Given the description of an element on the screen output the (x, y) to click on. 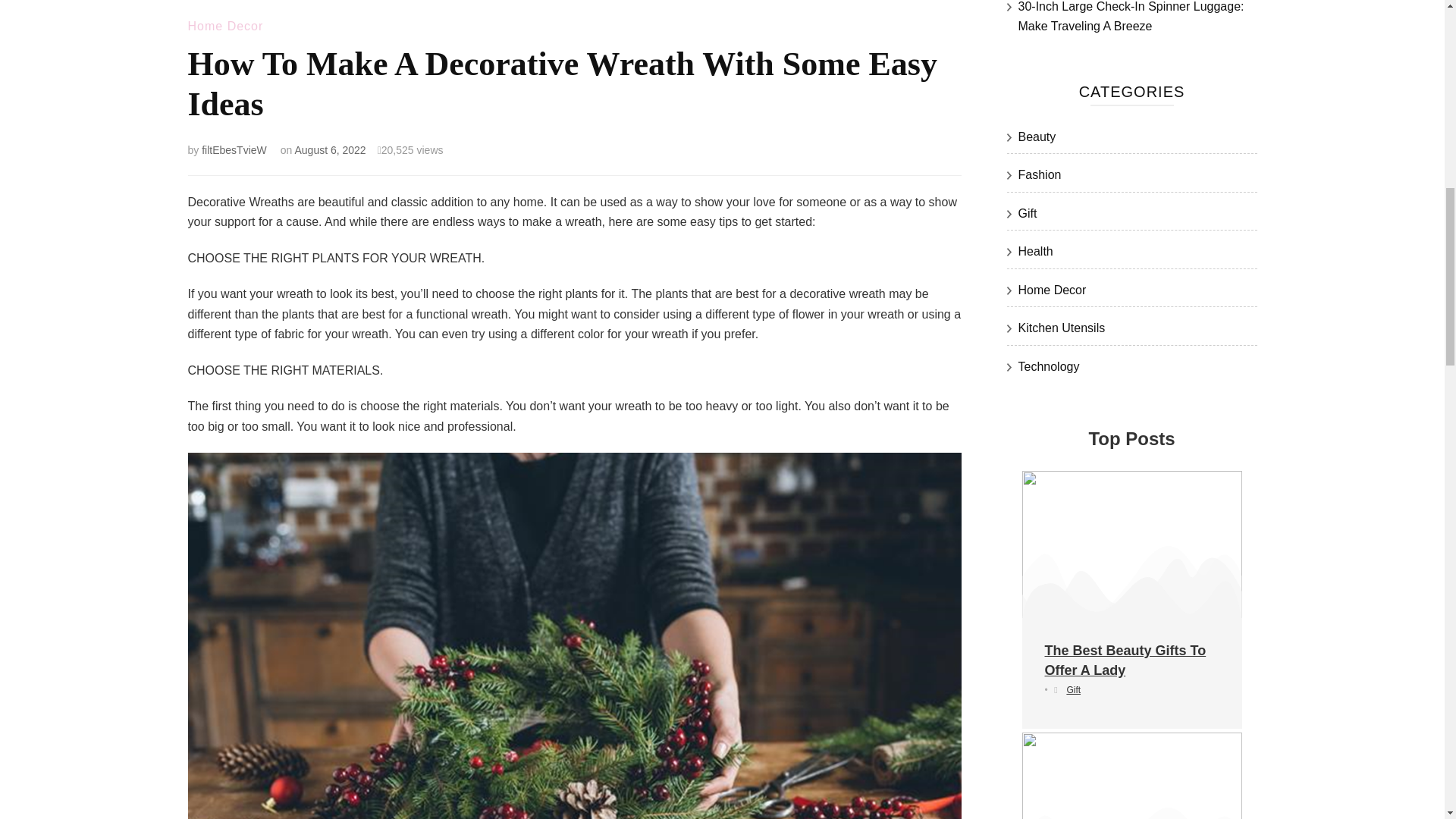
Home Decor (225, 25)
filtEbesTvieW (234, 150)
August 6, 2022 (329, 150)
Beauty (1036, 136)
